Given the description of an element on the screen output the (x, y) to click on. 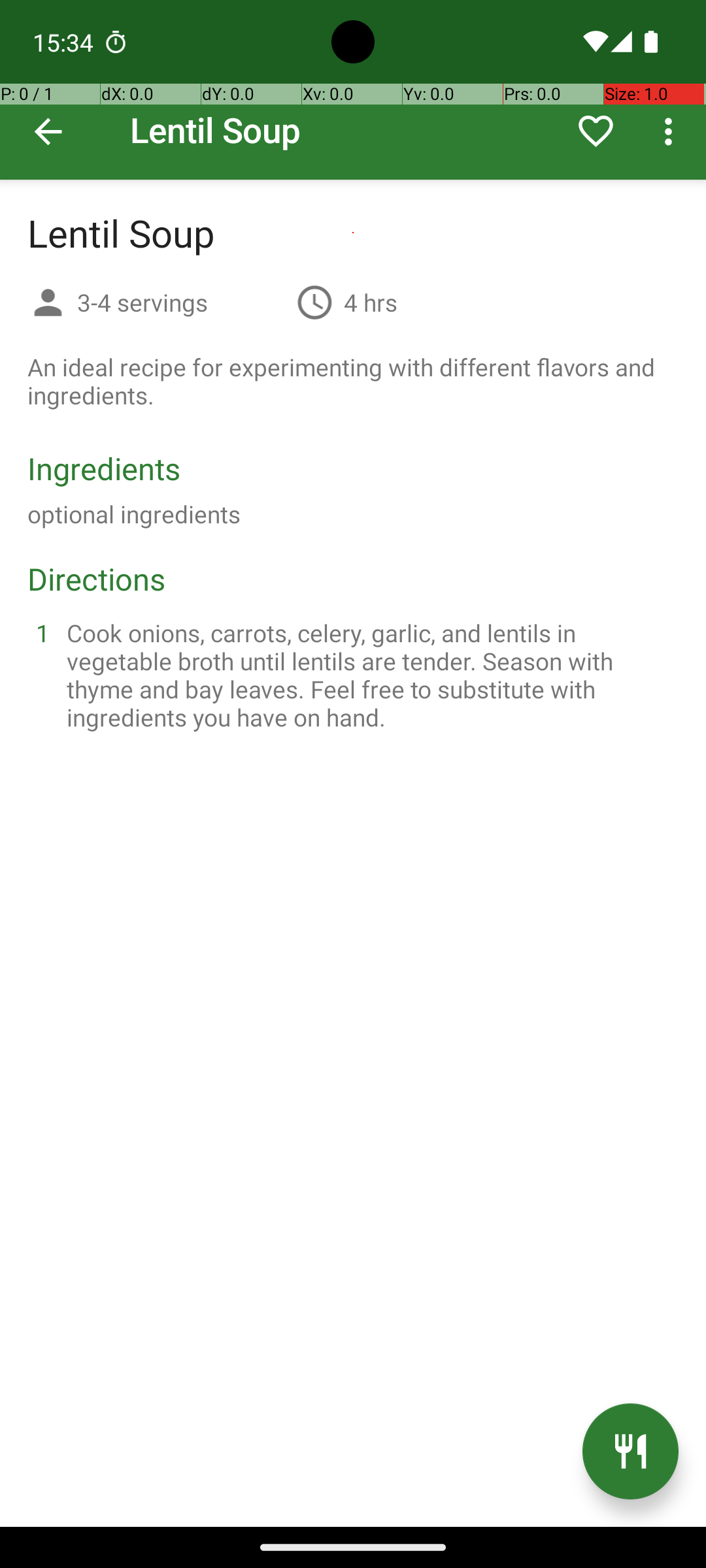
Cook onions, carrots, celery, garlic, and lentils in vegetable broth until lentils are tender. Season with thyme and bay leaves. Feel free to substitute with ingredients you have on hand. Element type: android.widget.TextView (368, 674)
